Given the description of an element on the screen output the (x, y) to click on. 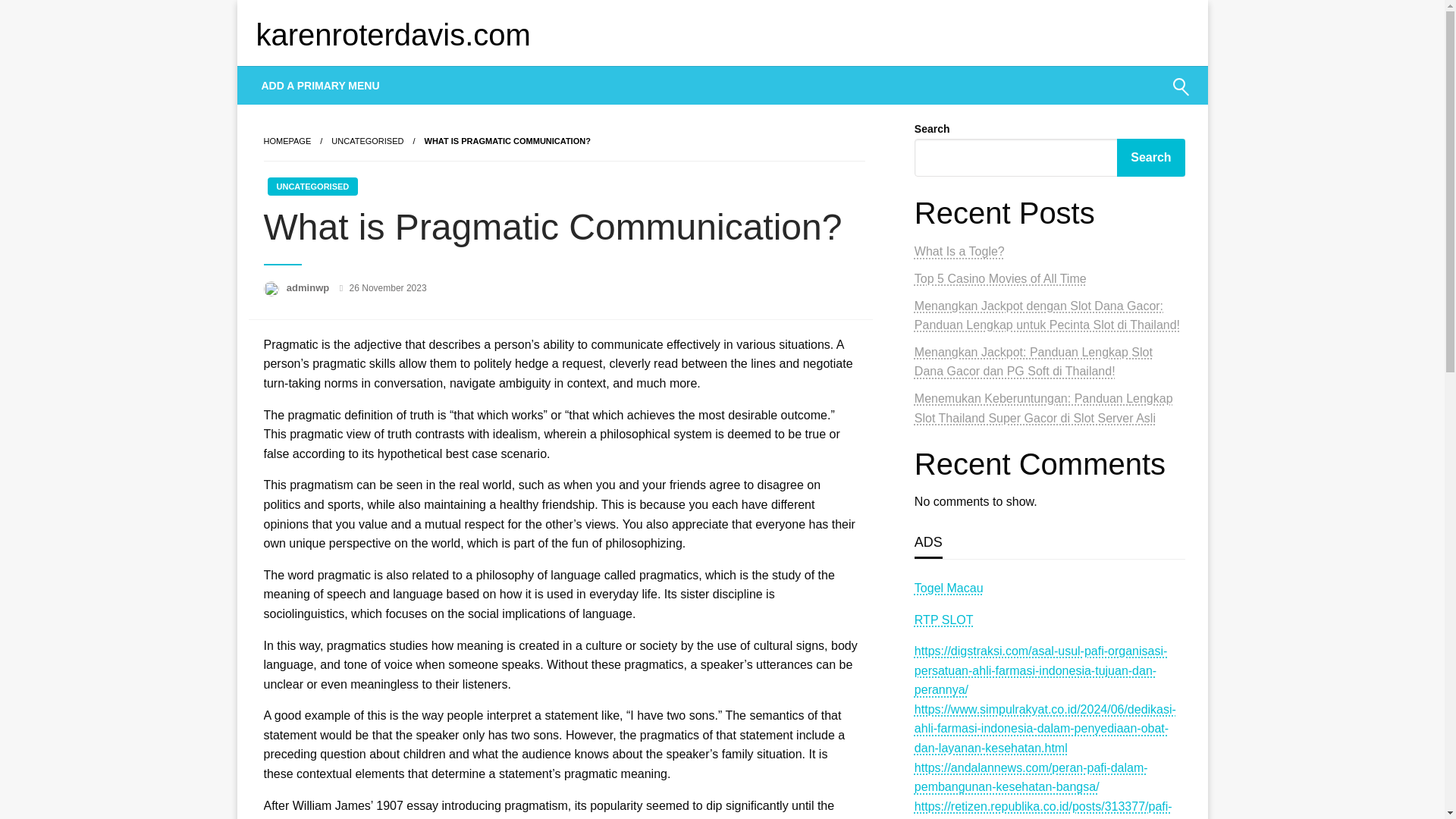
HOMEPAGE (287, 140)
UNCATEGORISED (367, 140)
UNCATEGORISED (312, 186)
Togel Macau (949, 587)
ADD A PRIMARY MENU (320, 85)
karenroterdavis.com (393, 34)
Uncategorised (367, 140)
26 November 2023 (387, 287)
What is Pragmatic Communication? (508, 140)
Search (1150, 157)
adminwp (308, 287)
adminwp (308, 287)
RTP SLOT (944, 619)
